Given the description of an element on the screen output the (x, y) to click on. 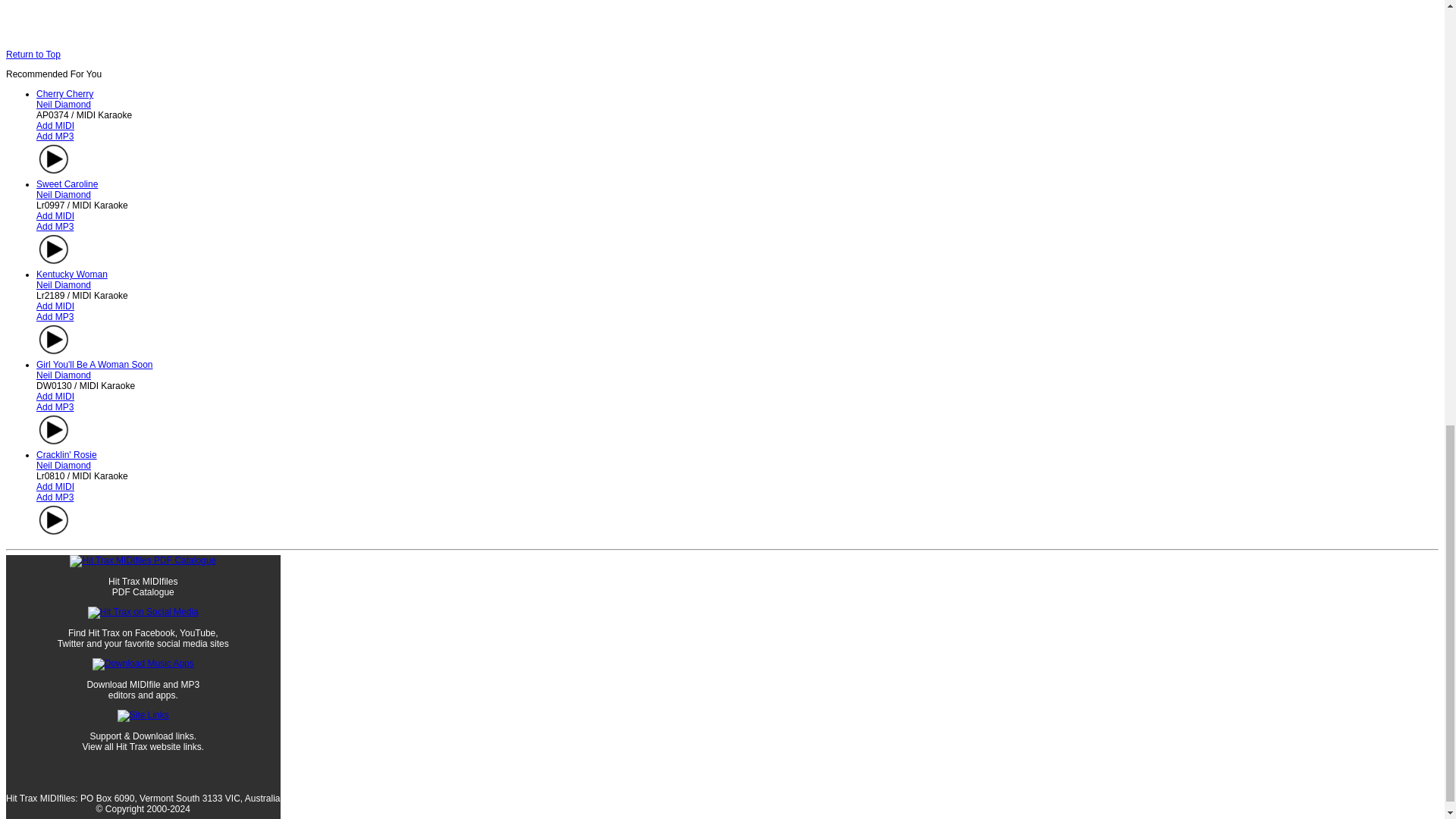
Add MIDI (55, 306)
Play Cherry Cherry (53, 158)
Sweet Caroline (66, 184)
Add MP3 (55, 226)
Add MIDI (55, 215)
Buy MIDI for Cherry Cherry Neil Diamond (55, 125)
Add MP3 (55, 407)
Add MIDI (55, 486)
Girl You'll Be A Woman Soon (94, 364)
Add MP3 (55, 136)
Cracklin' Rosie (66, 454)
Kentucky Woman (71, 274)
Neil Diamond Sweet Caroline MIDI Backing Track (66, 184)
Add MP3 (55, 497)
Neil Diamond (63, 285)
